Given the description of an element on the screen output the (x, y) to click on. 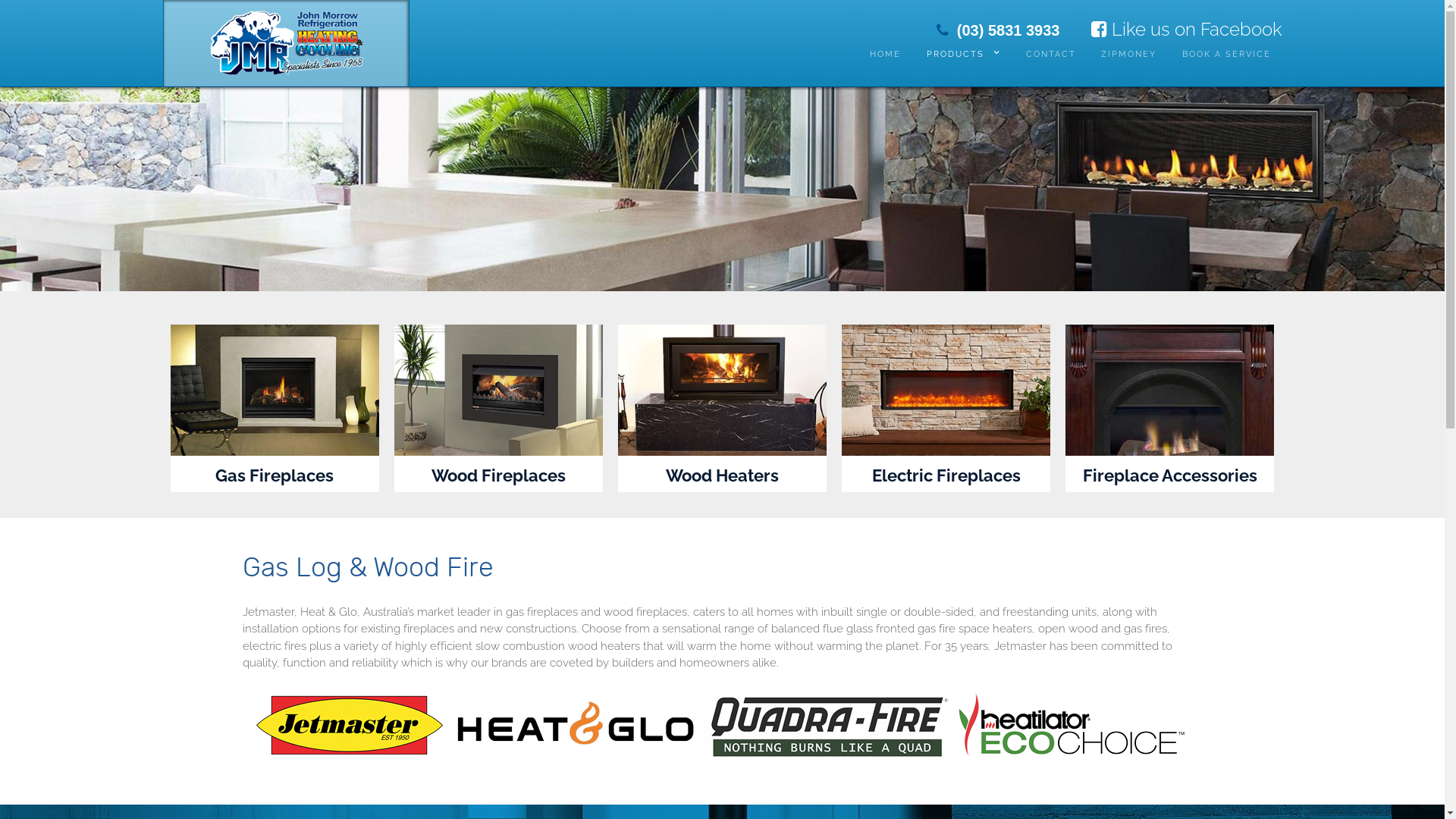
Wood Heaters Element type: text (721, 475)
Gas Fireplaces Element type: text (274, 475)
HOME Element type: text (886, 53)
Like us on Facebook Element type: text (1185, 29)
JMR Element type: hover (285, 39)
BOOK A SERVICE Element type: text (1226, 53)
ZIPMONEY Element type: text (1128, 53)
(03) 5831 3933 Element type: text (997, 29)
Electric Fireplaces Element type: text (946, 475)
Wood Fireplaces Element type: text (498, 475)
Fireplace Accessories Element type: text (1169, 475)
CONTACT Element type: text (1050, 53)
